Given the description of an element on the screen output the (x, y) to click on. 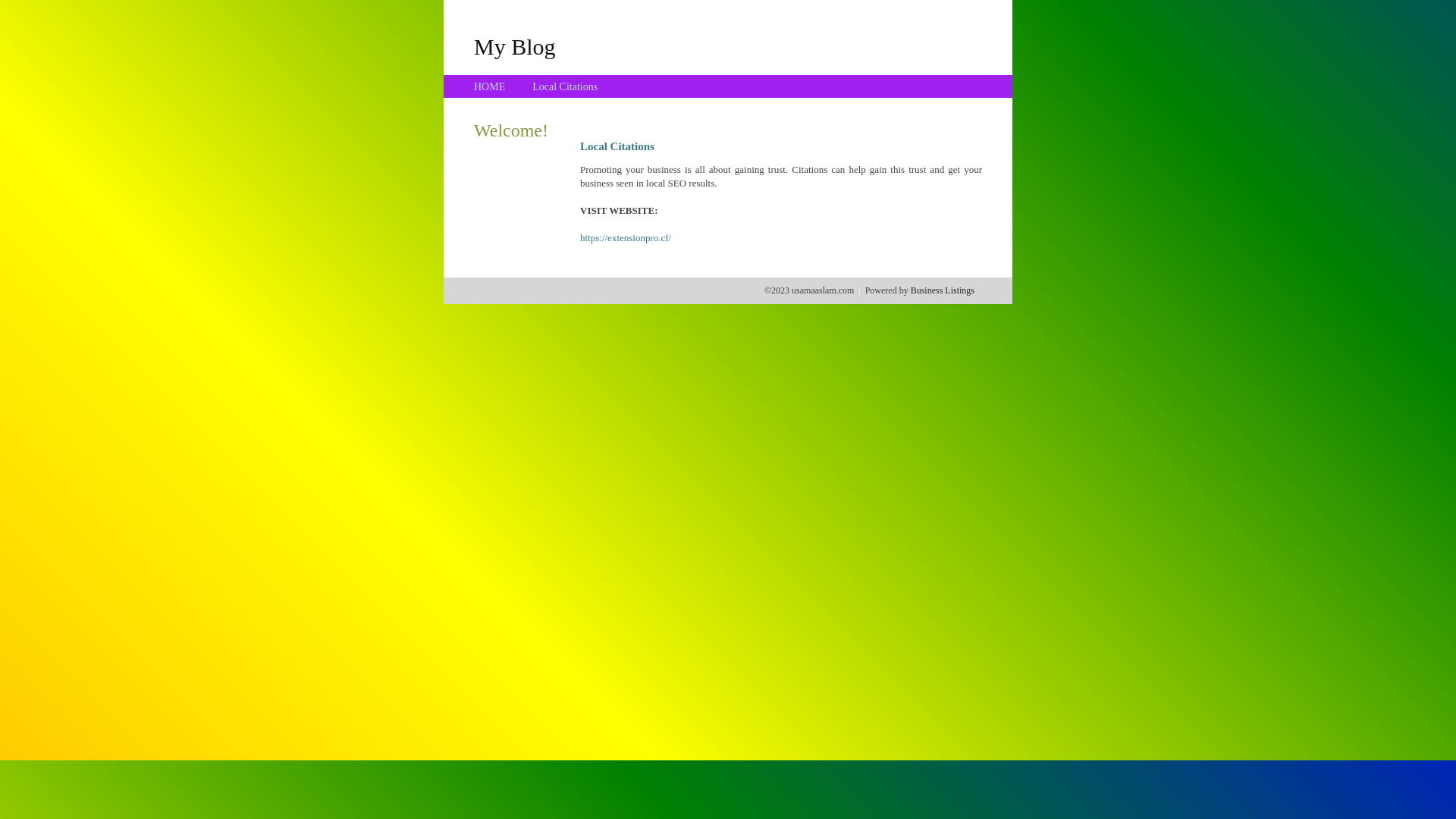
HOME Element type: text (489, 86)
My Blog Element type: text (514, 46)
Business Listings Element type: text (942, 290)
https://extensionpro.cf/ Element type: text (625, 237)
Local Citations Element type: text (564, 86)
